Given the description of an element on the screen output the (x, y) to click on. 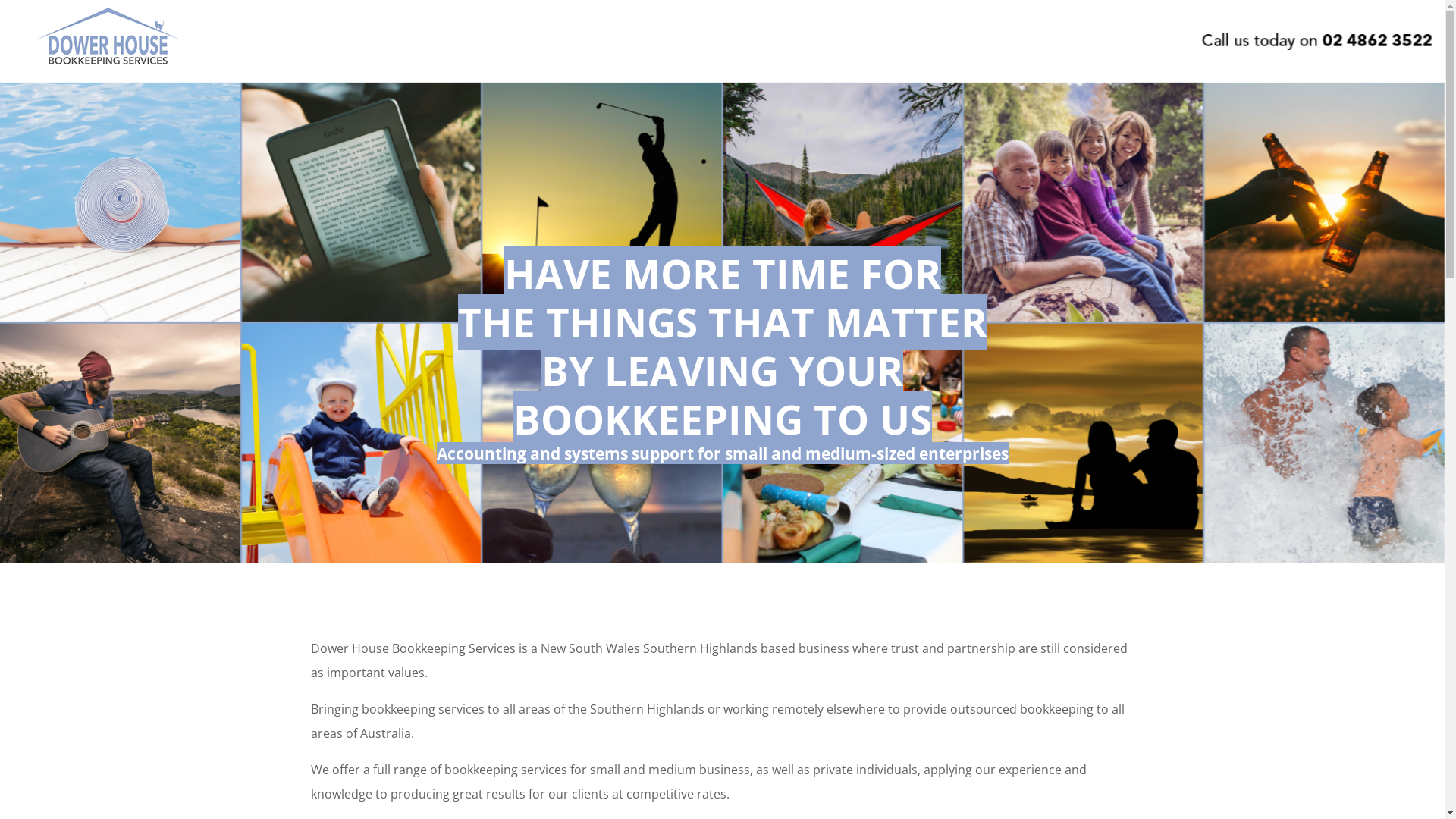
Dower House Bookkeeping Services Element type: hover (107, 67)
